Given the description of an element on the screen output the (x, y) to click on. 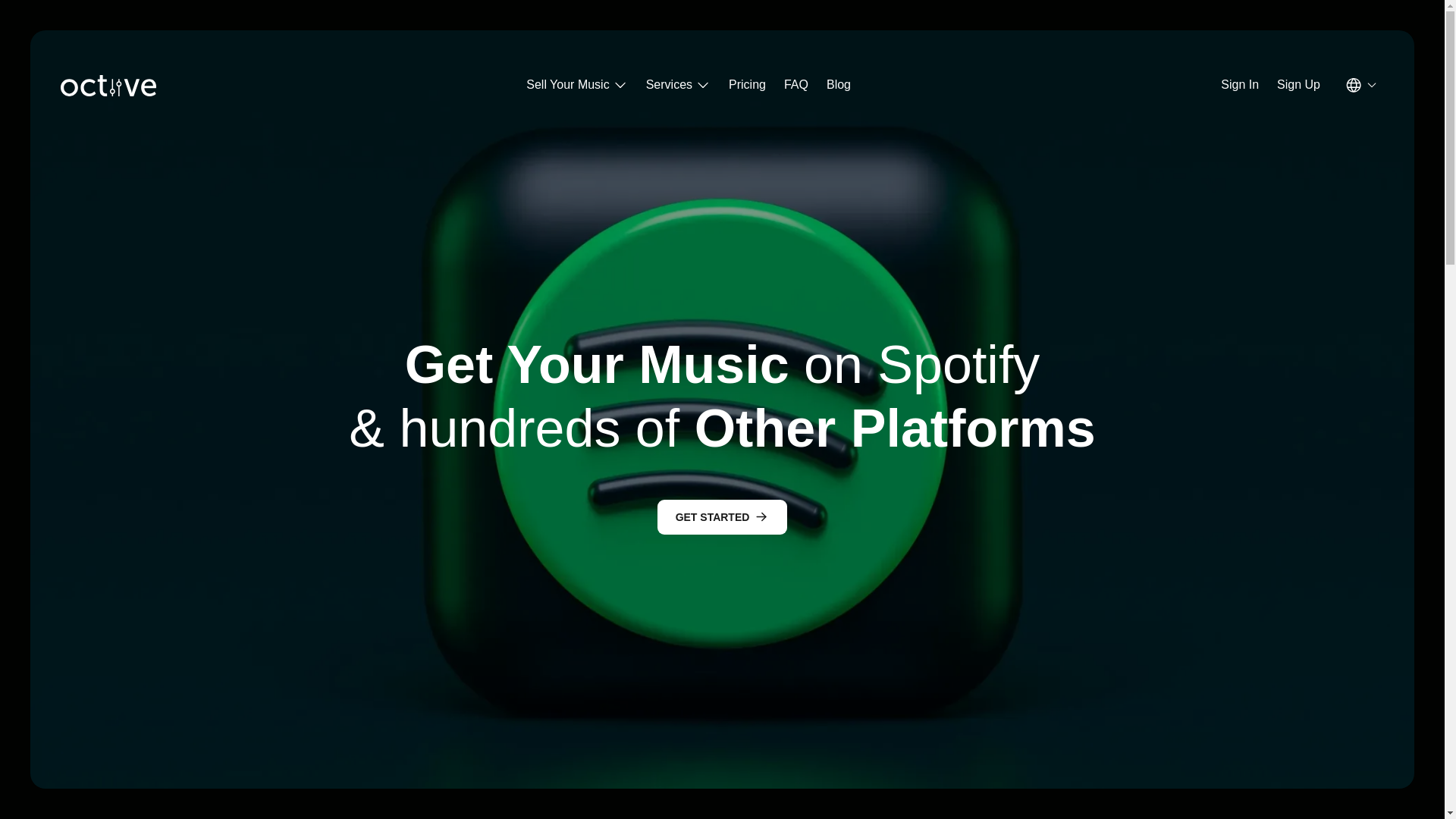
Sign Up (1298, 83)
Blog (838, 83)
Sign In (1240, 83)
Pricing (747, 83)
FAQ (796, 83)
